Given the description of an element on the screen output the (x, y) to click on. 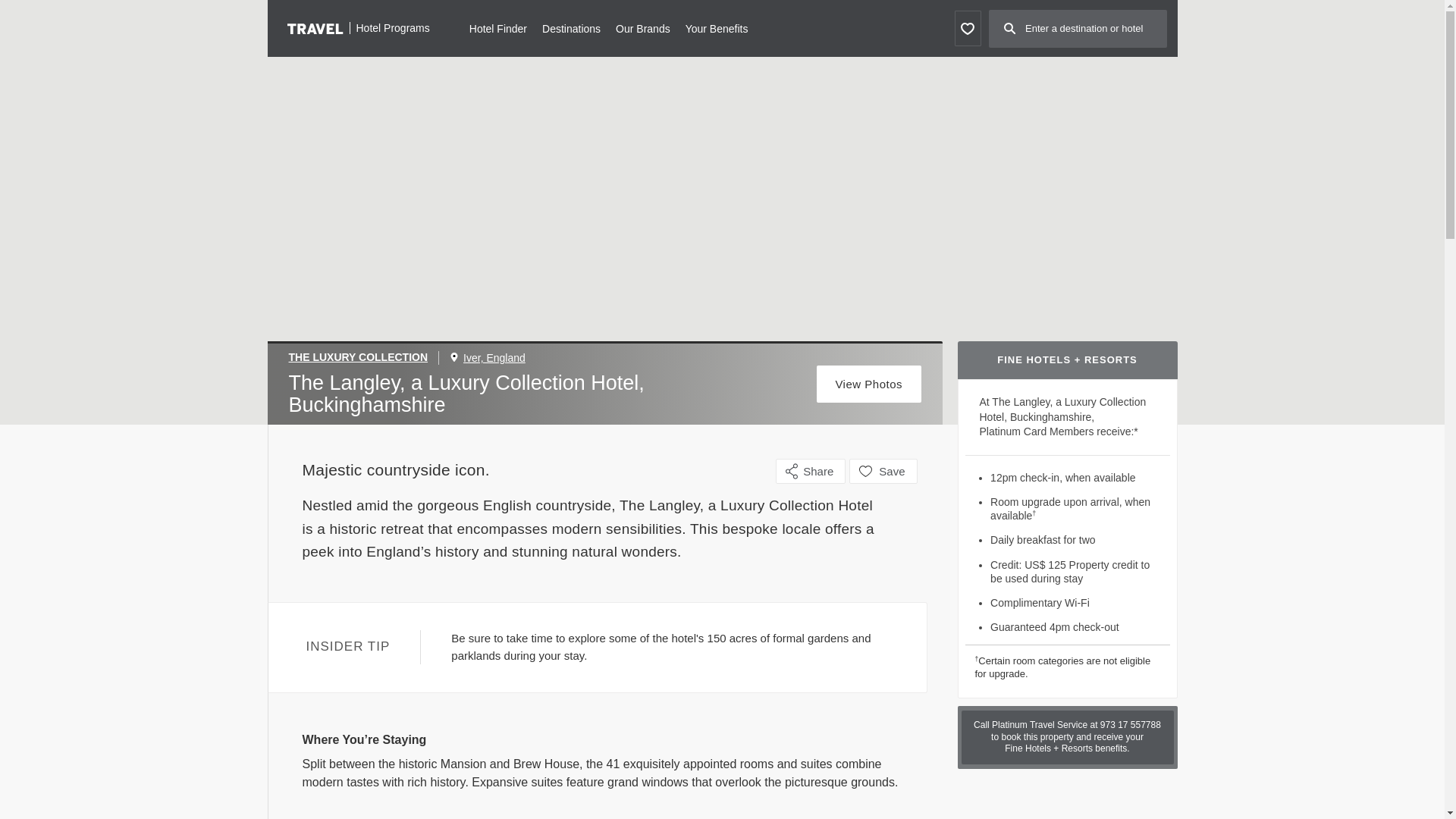
View Photos (868, 383)
THE LUXURY COLLECTION (363, 357)
Save (882, 471)
Iver, England (494, 357)
Our Brands (642, 27)
Share (810, 471)
Destinations (570, 27)
Hotel Programs (357, 27)
Hotel Finder (497, 27)
Your Benefits (716, 27)
